Given the description of an element on the screen output the (x, y) to click on. 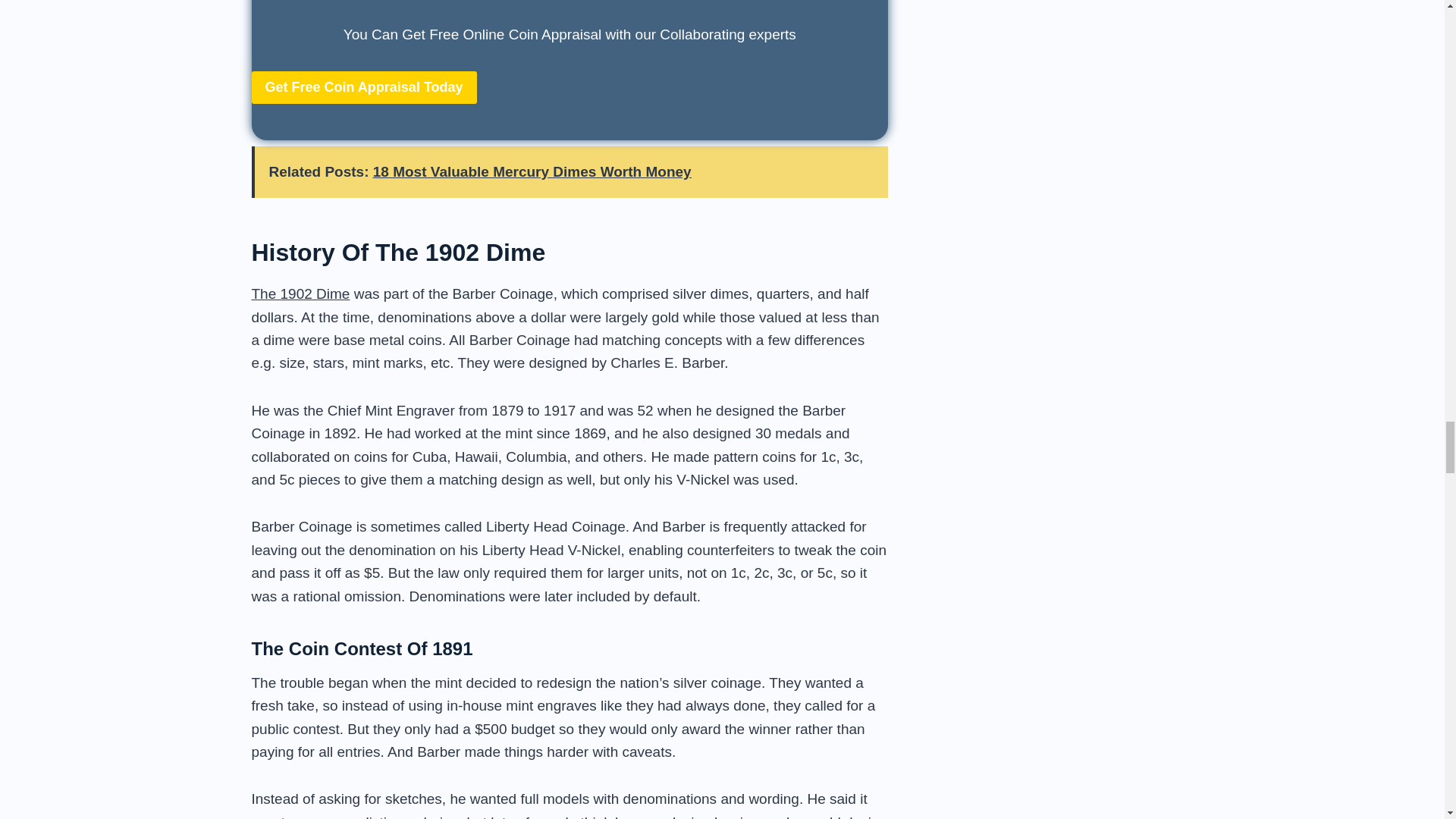
18 Most Valuable Mercury Dimes Worth Money (531, 171)
The 1902 Dime (300, 293)
Get Free Coin Appraisal Today (364, 87)
